Given the description of an element on the screen output the (x, y) to click on. 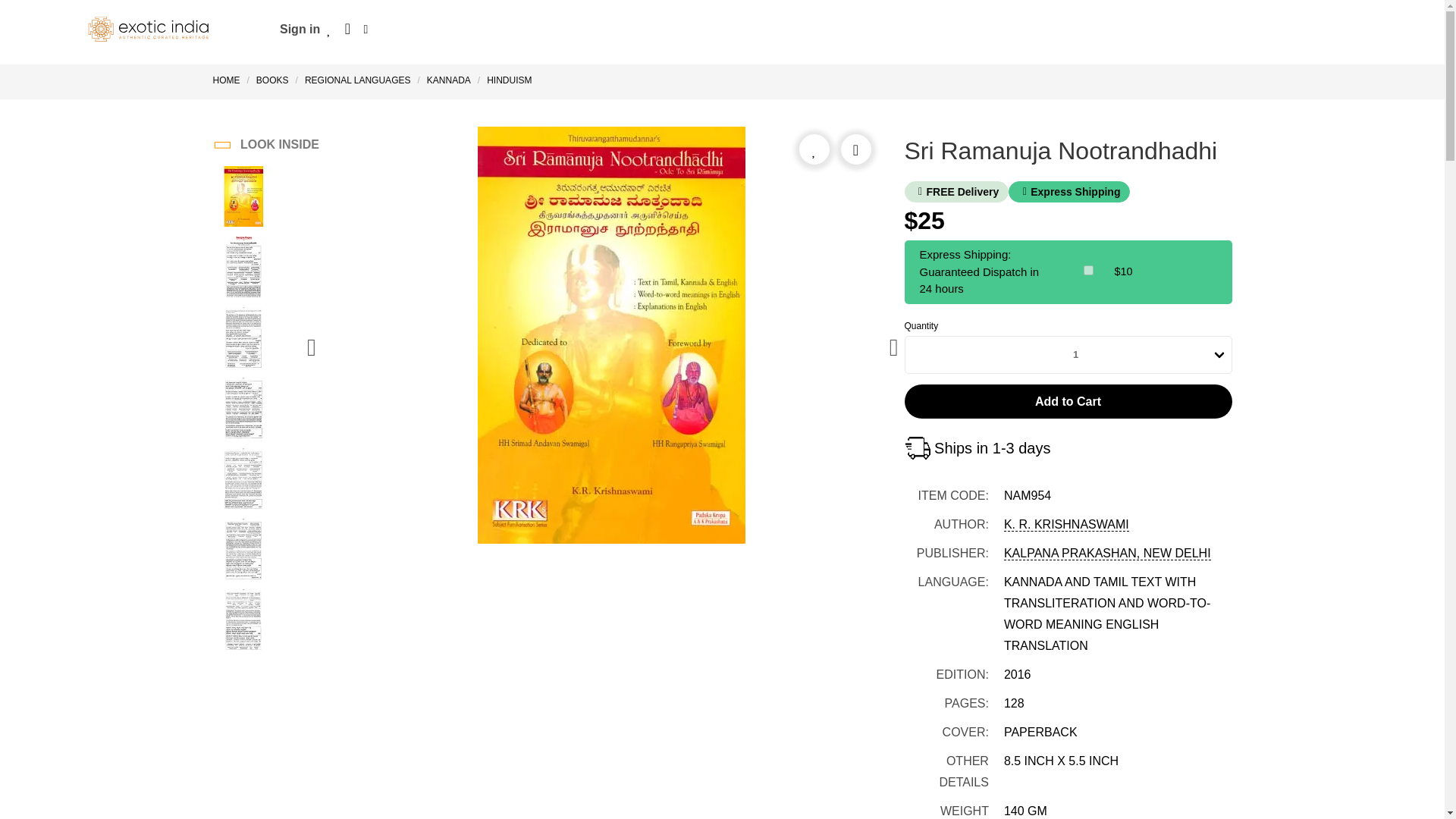
Sri Ramanuja Nootrandhadhi (242, 339)
Home (229, 79)
Sri Ramanuja Nootrandhadhi (242, 410)
Sri Ramanuja Nootrandhadhi (242, 480)
Sri Ramanuja Nootrandhadhi (242, 269)
Hinduism (509, 79)
HOME (229, 79)
Wishlist (328, 29)
HINDUISM (509, 79)
